Given the description of an element on the screen output the (x, y) to click on. 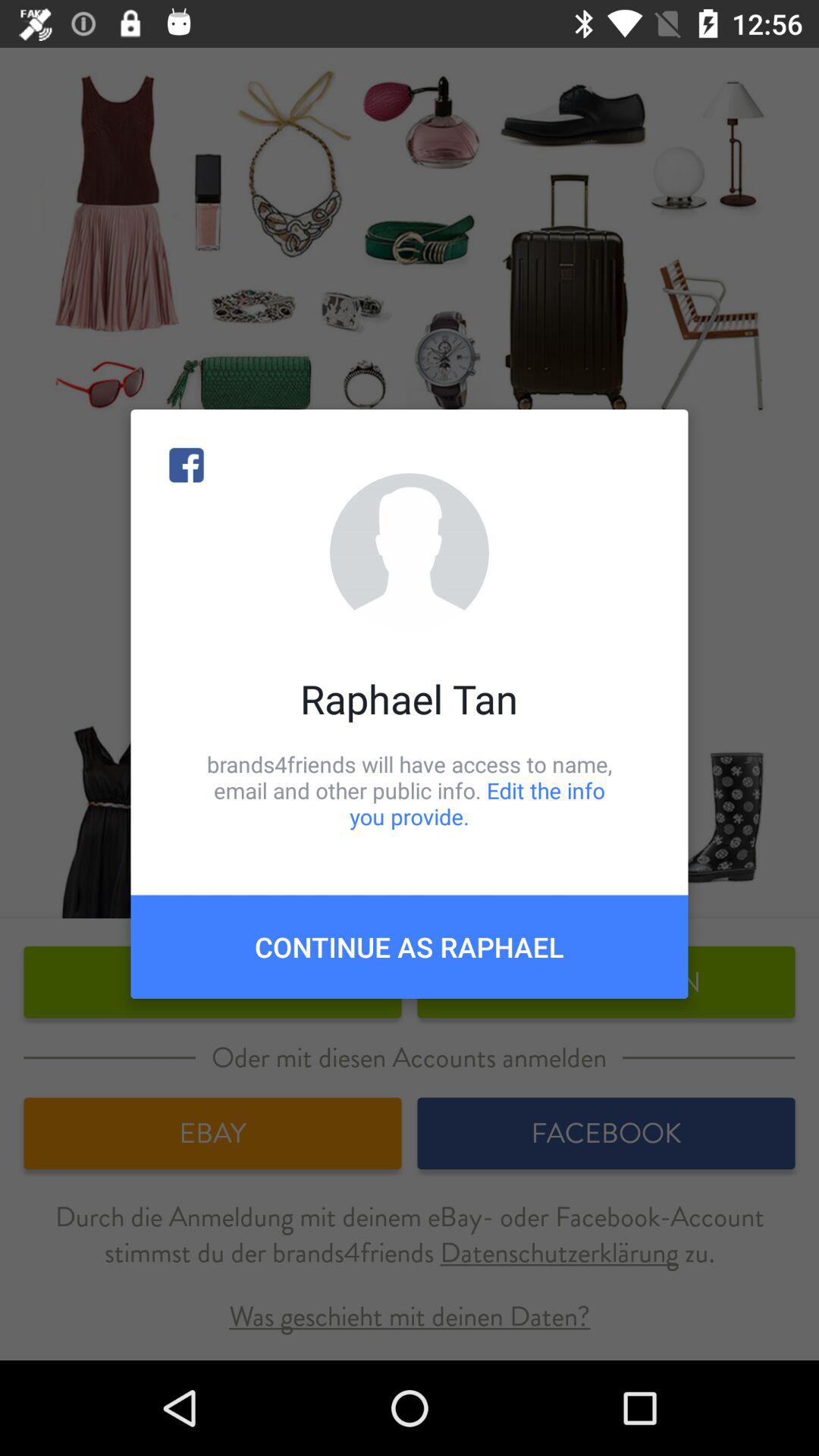
choose the icon below the brands4friends will have (409, 946)
